Given the description of an element on the screen output the (x, y) to click on. 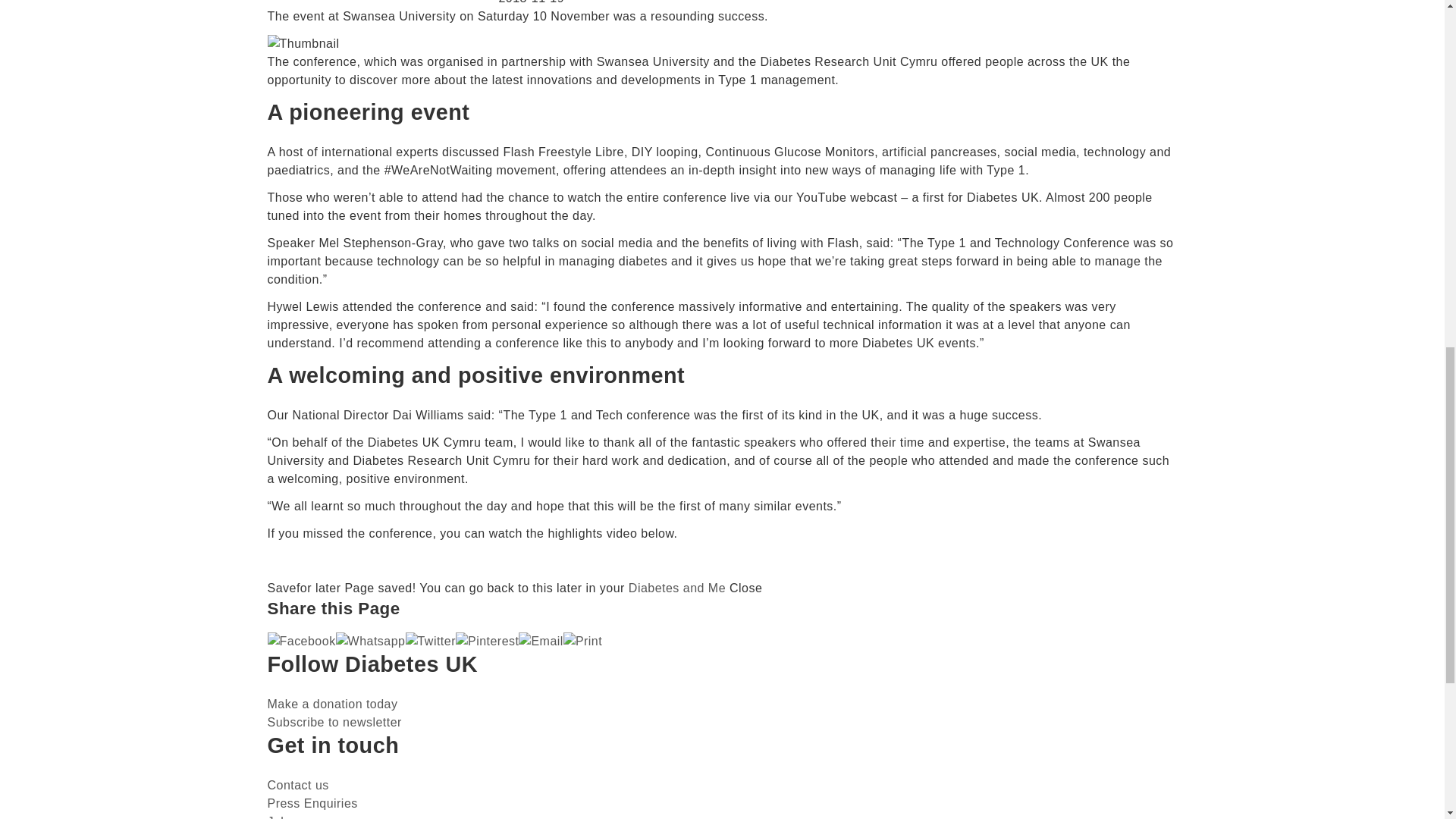
T1tech conference (302, 44)
Diabetes and Me (676, 587)
